Given the description of an element on the screen output the (x, y) to click on. 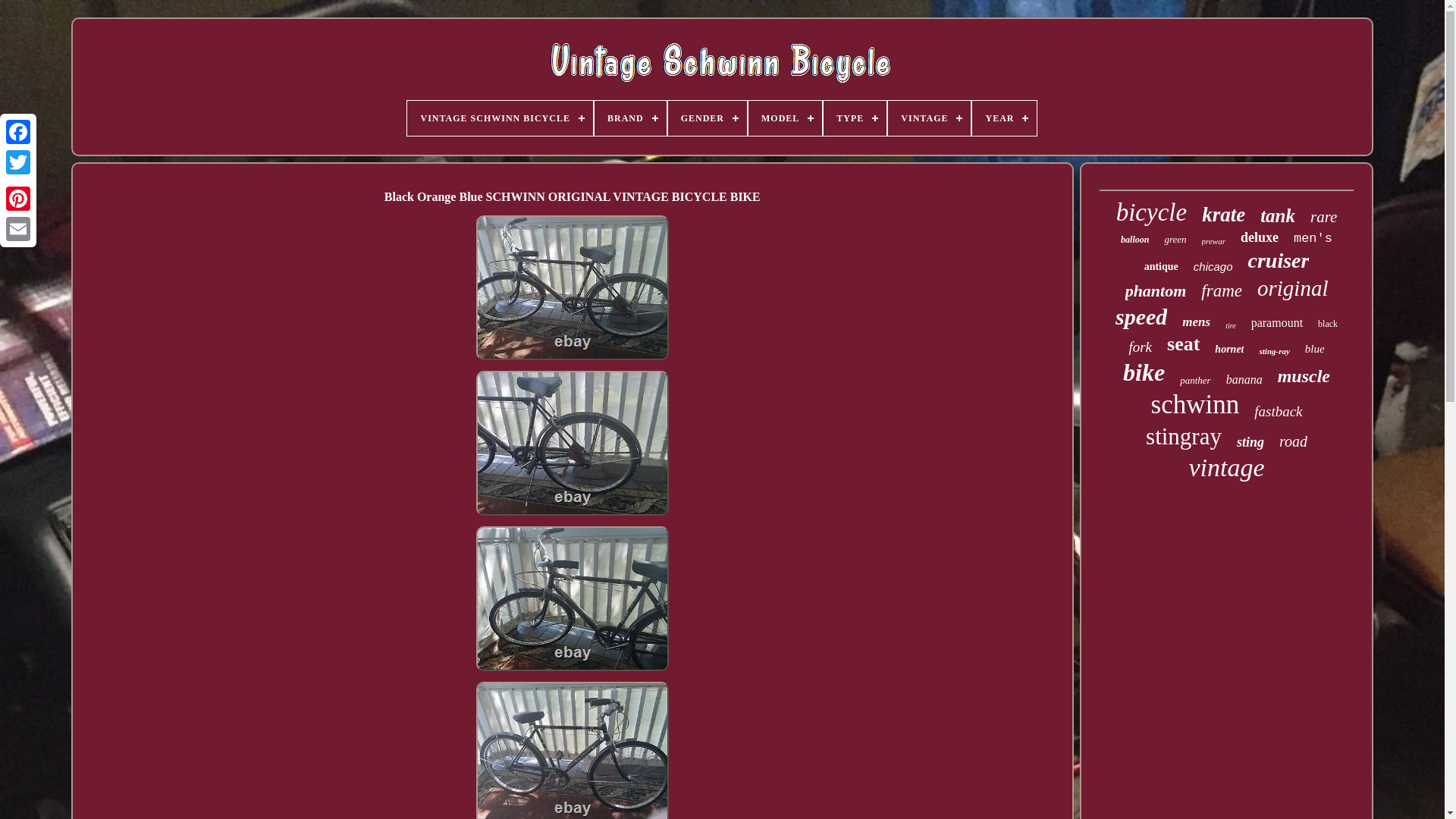
VINTAGE SCHWINN BICYCLE (499, 117)
Black Orange Blue SCHWINN ORIGINAL VINTAGE BICYCLE BIKE (572, 443)
Black Orange Blue SCHWINN ORIGINAL VINTAGE BICYCLE BIKE (572, 598)
Black Orange Blue SCHWINN ORIGINAL VINTAGE BICYCLE BIKE (572, 750)
BRAND (630, 117)
GENDER (707, 117)
Black Orange Blue SCHWINN ORIGINAL VINTAGE BICYCLE BIKE (572, 287)
